Given the description of an element on the screen output the (x, y) to click on. 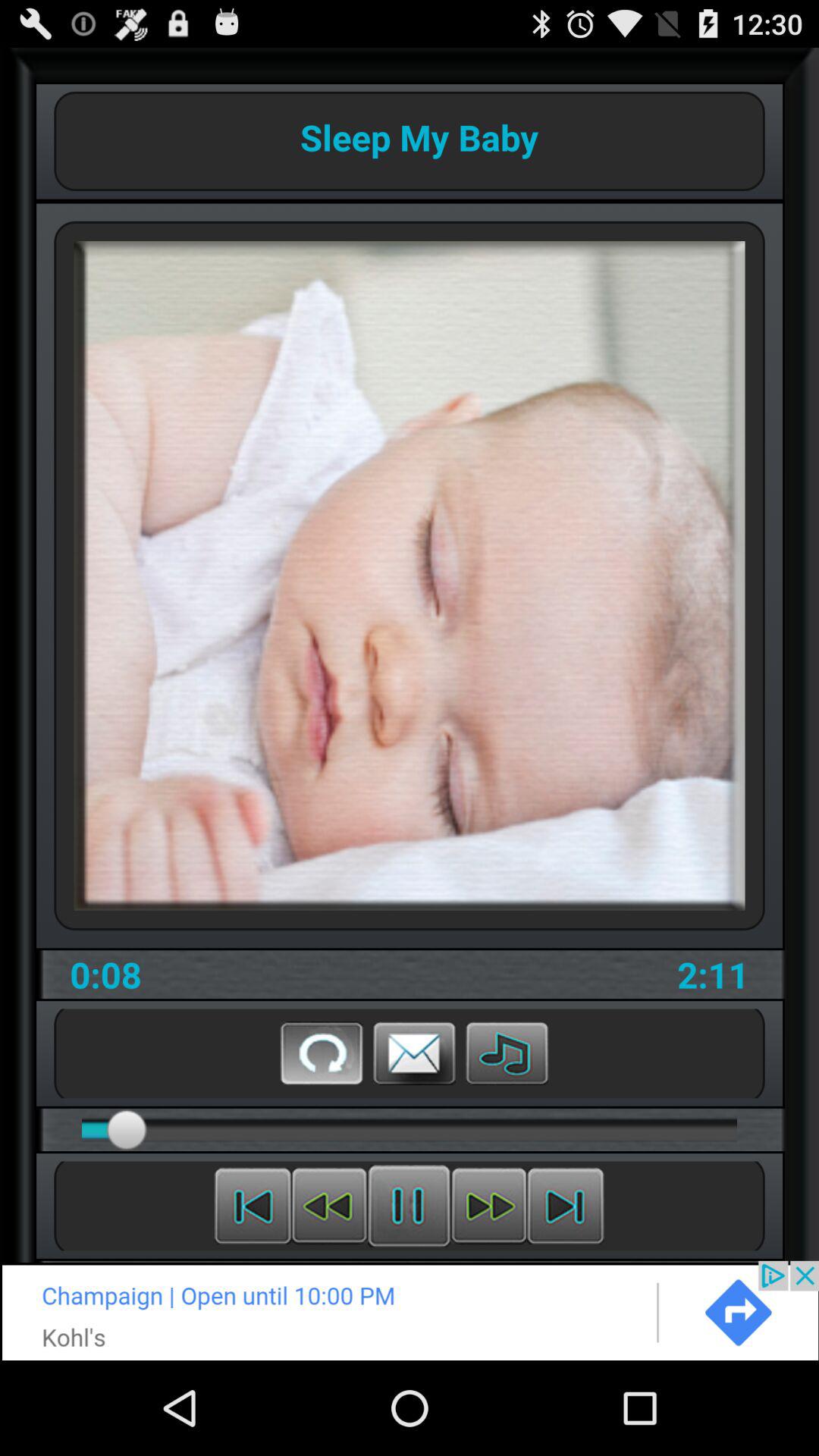
previous media file (252, 1205)
